Given the description of an element on the screen output the (x, y) to click on. 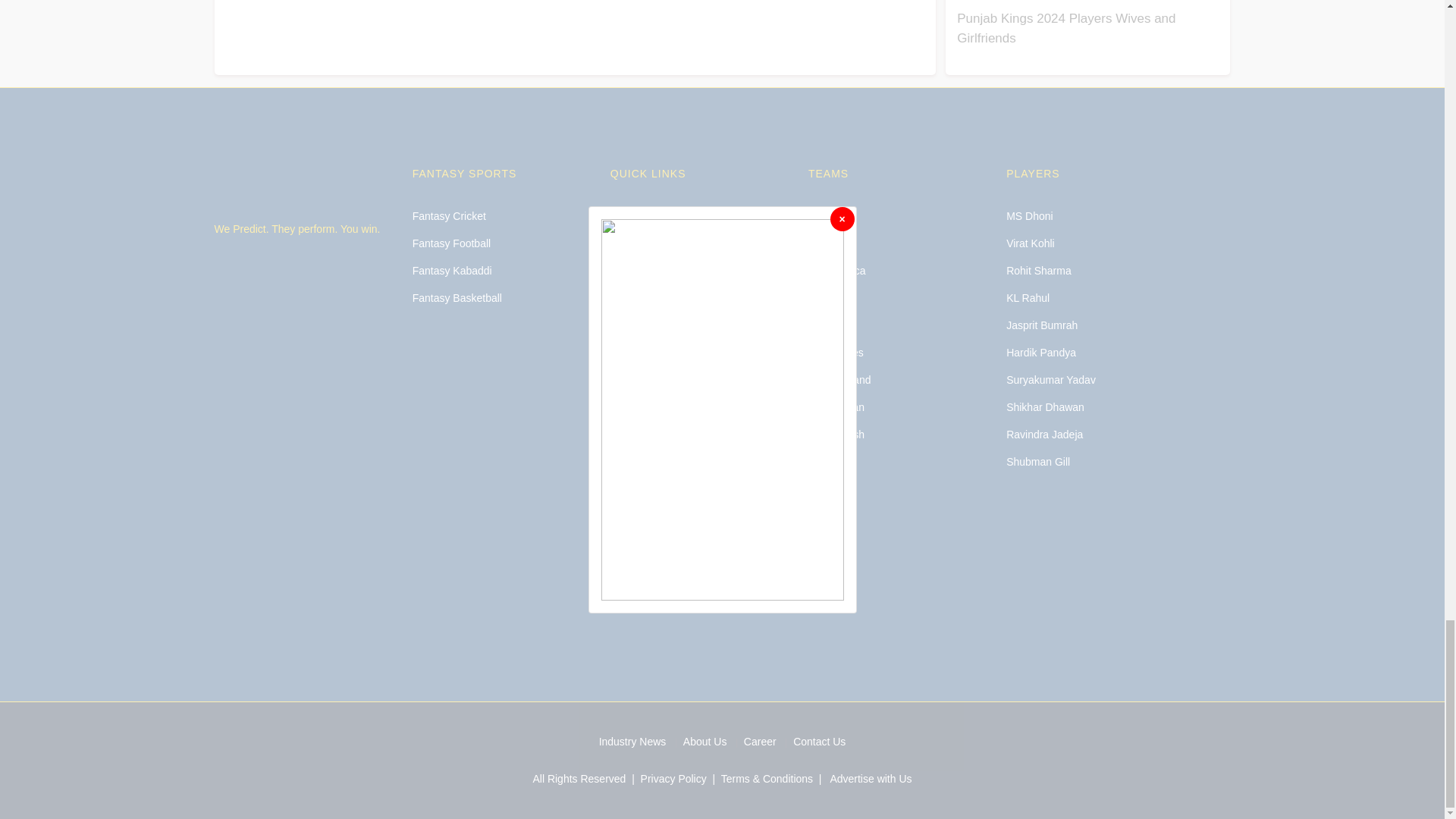
Punjab Kings 2024 Players Wives and Girlfriends (1065, 28)
